Given the description of an element on the screen output the (x, y) to click on. 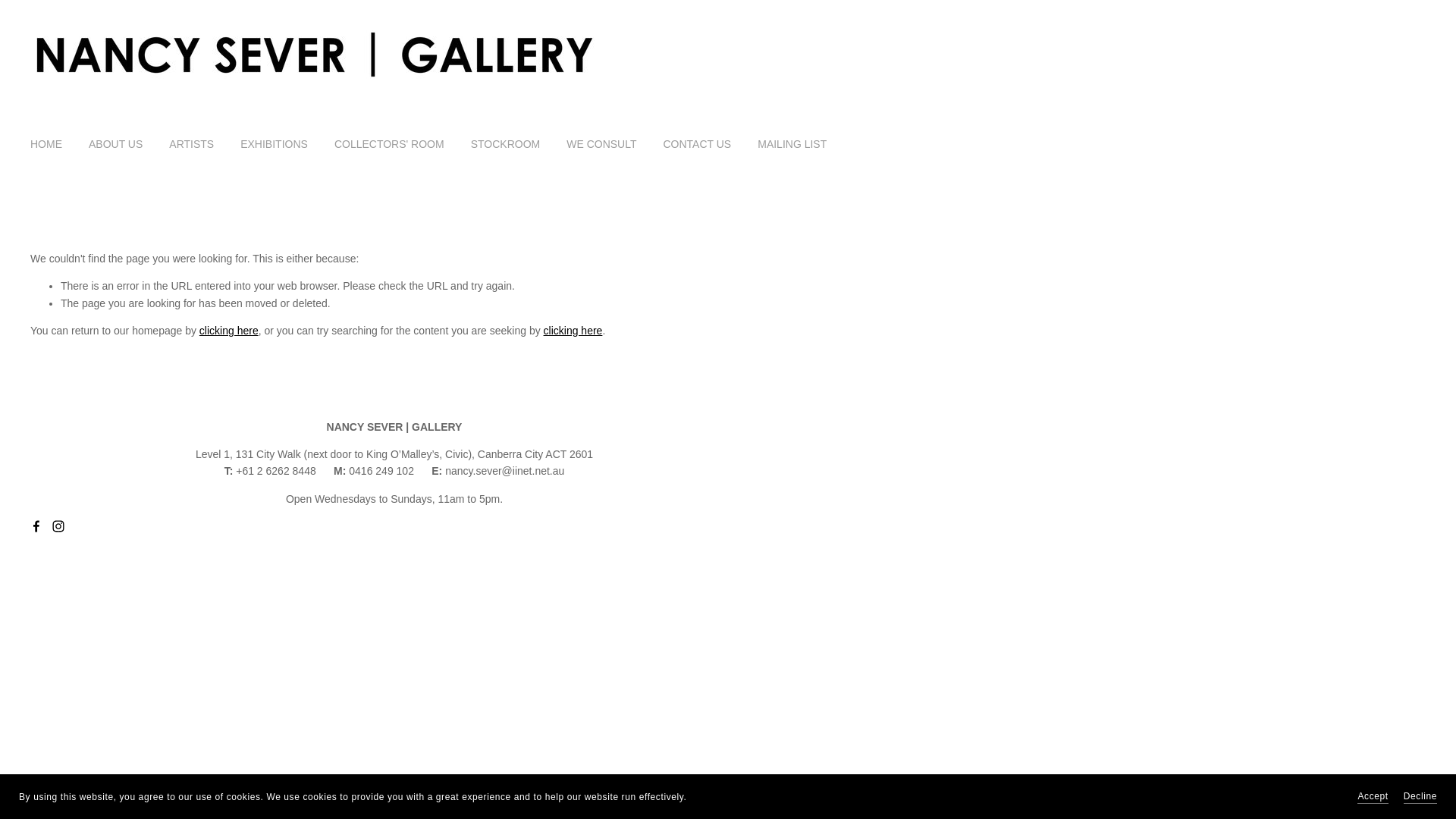
ARTISTS Element type: text (191, 144)
CONTACT US Element type: text (696, 144)
COLLECTORS' ROOM Element type: text (389, 144)
Decline Element type: text (1420, 796)
HOME Element type: text (46, 144)
clicking here Element type: text (228, 330)
Accept Element type: text (1372, 796)
WE CONSULT Element type: text (601, 144)
clicking here Element type: text (572, 330)
MAILING LIST Element type: text (791, 144)
ABOUT US Element type: text (115, 144)
EXHIBITIONS Element type: text (273, 144)
STOCKROOM Element type: text (505, 144)
